Given the description of an element on the screen output the (x, y) to click on. 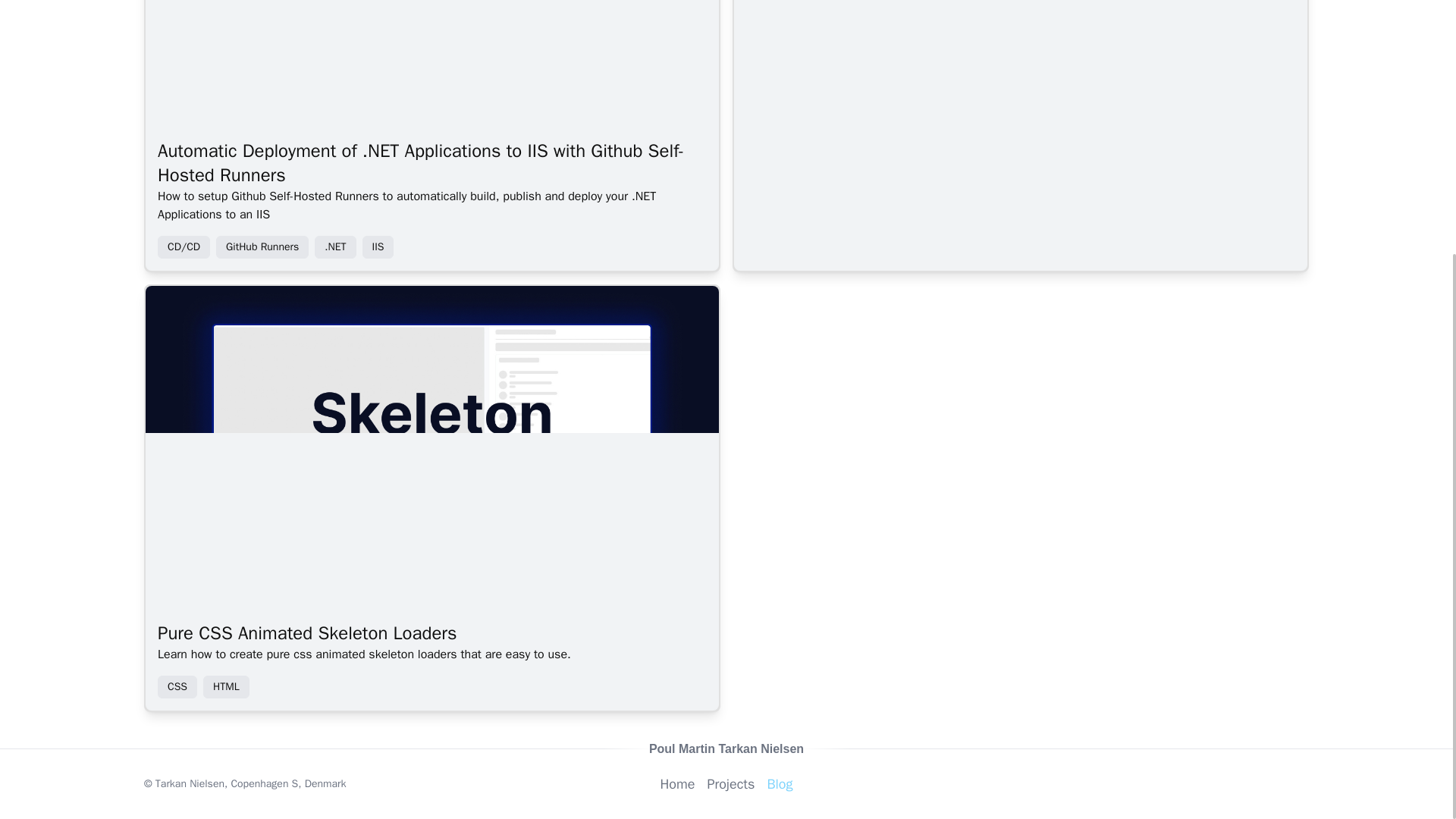
Home (676, 783)
Projects (730, 783)
Blog (779, 783)
